Given the description of an element on the screen output the (x, y) to click on. 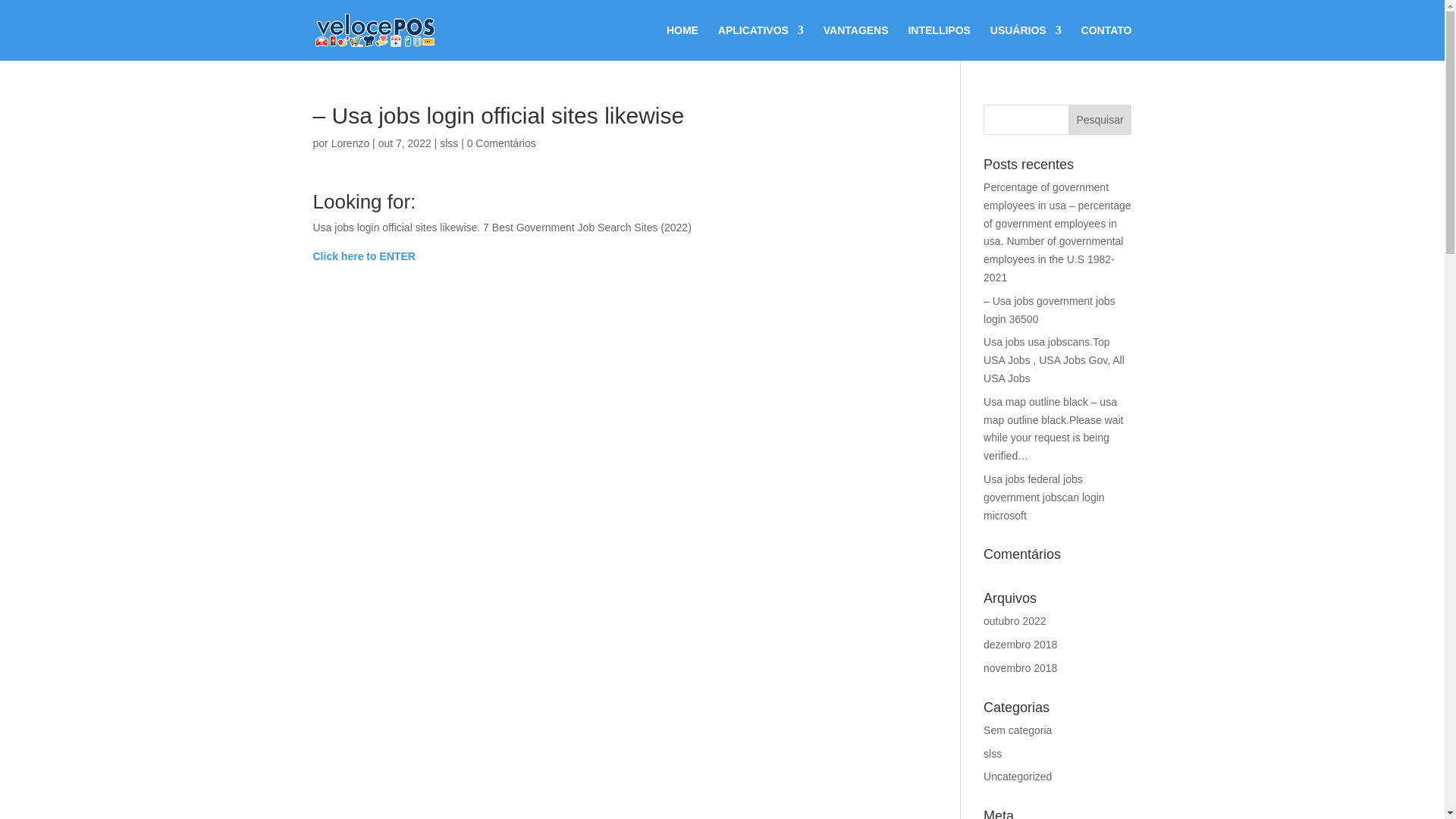
CONTATO (1106, 42)
HOME (682, 42)
Lorenzo (350, 143)
INTELLIPOS (938, 42)
APLICATIVOS (760, 42)
Postagem de Lorenzo (350, 143)
Click here to ENTER (363, 256)
VANTAGENS (856, 42)
slss (448, 143)
Pesquisar (1100, 119)
